Given the description of an element on the screen output the (x, y) to click on. 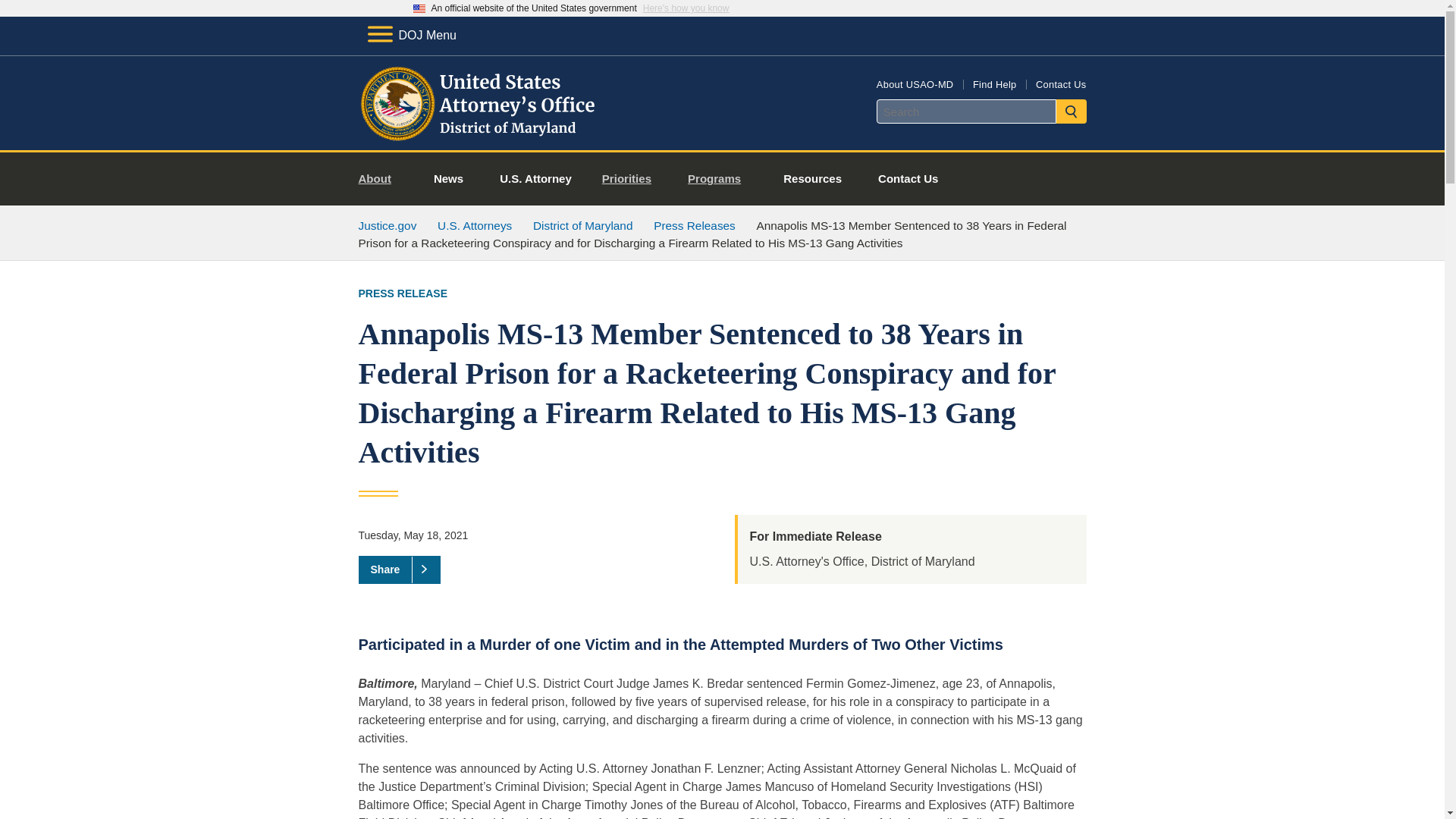
About USAO-MD (914, 84)
Resources (812, 179)
Press Releases (694, 225)
District of Maryland (581, 225)
Programs (720, 179)
About (380, 179)
DOJ Menu (411, 35)
U.S. Attorney (535, 179)
Find Help (994, 84)
U.S. Attorneys (475, 225)
